Given the description of an element on the screen output the (x, y) to click on. 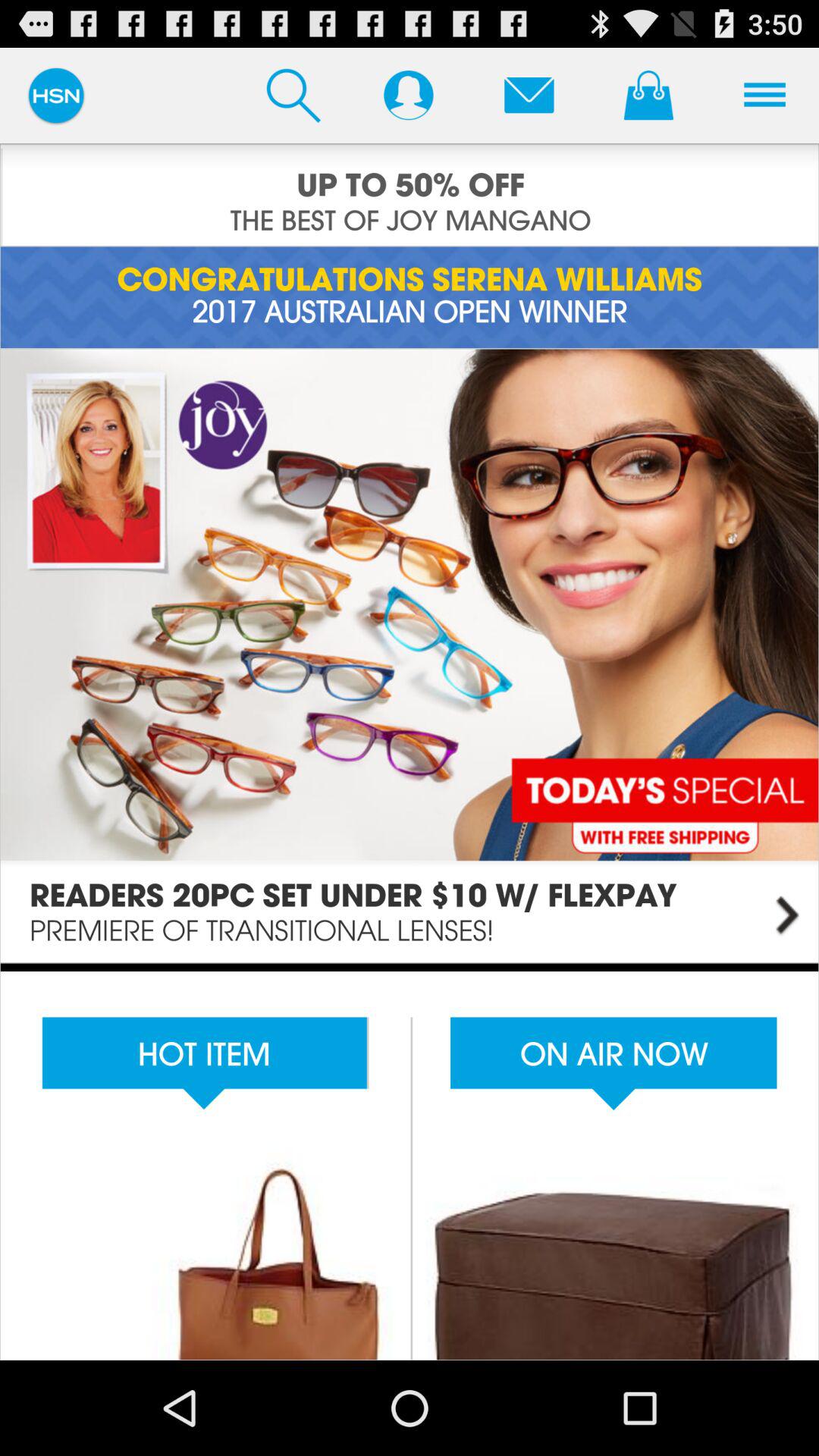
select to email (529, 95)
